Given the description of an element on the screen output the (x, y) to click on. 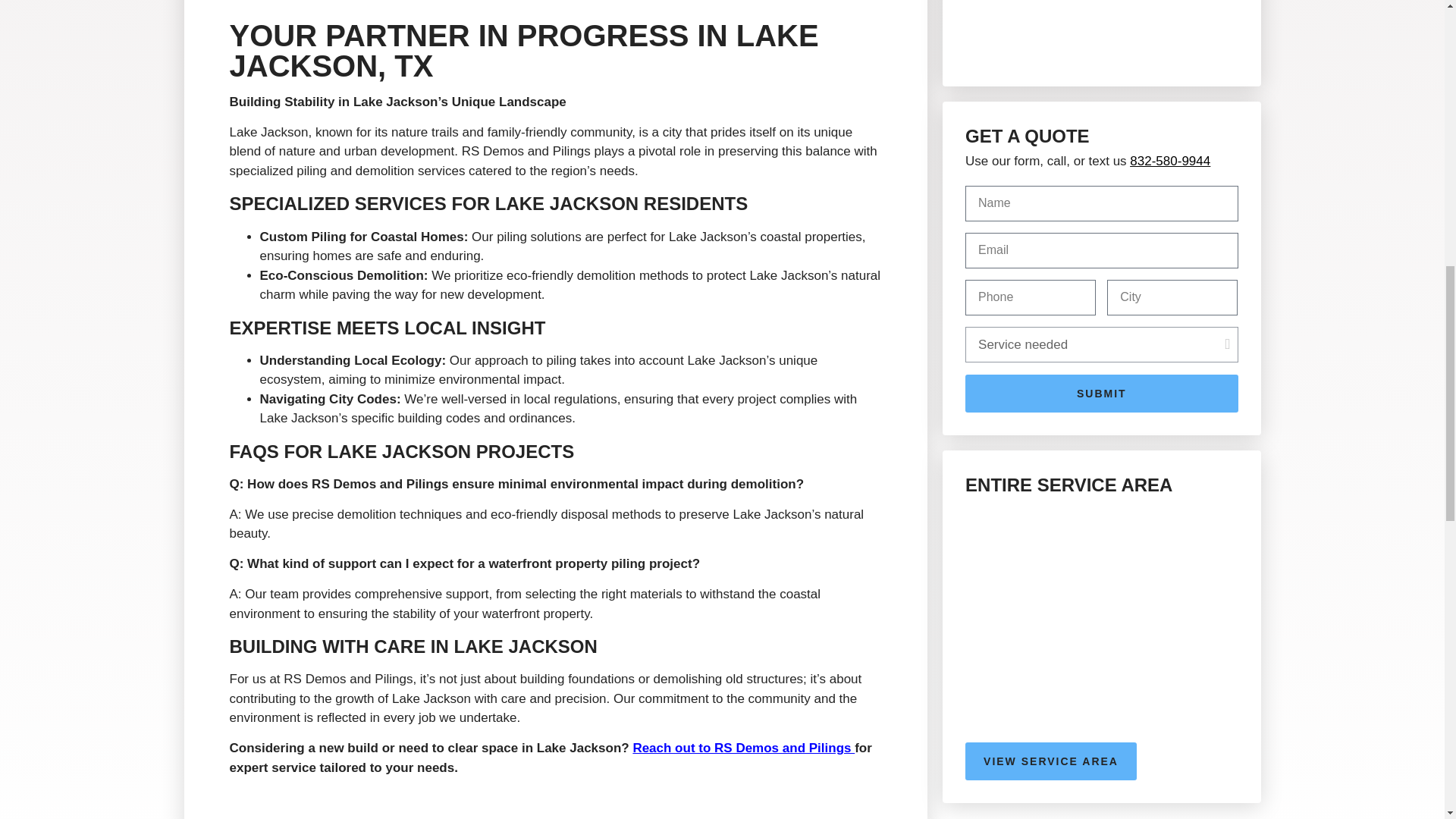
VIEW SERVICE AREA (1051, 761)
Reach out to RS Demos and Pilings (742, 748)
832-580-9944 (1169, 160)
SUBMIT (1101, 393)
